Given the description of an element on the screen output the (x, y) to click on. 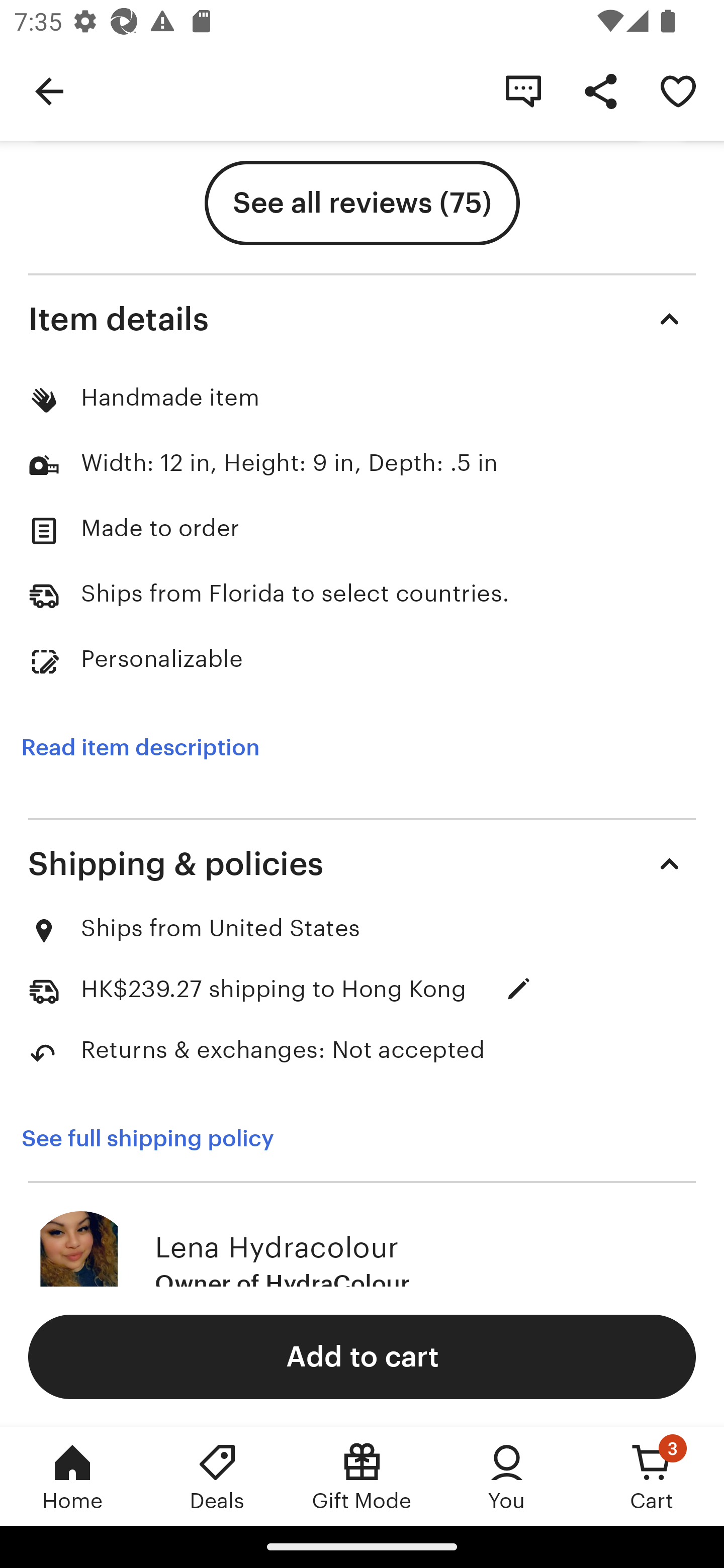
Navigate up (49, 90)
Contact shop (523, 90)
Share (600, 90)
See all reviews (75) (361, 202)
Item details (362, 318)
Read item description (140, 747)
Shipping & policies (362, 863)
Update (518, 989)
See full shipping policy (161, 1138)
Add to cart (361, 1355)
Deals (216, 1475)
Gift Mode (361, 1475)
You (506, 1475)
Cart, 3 new notifications Cart (651, 1475)
